Given the description of an element on the screen output the (x, y) to click on. 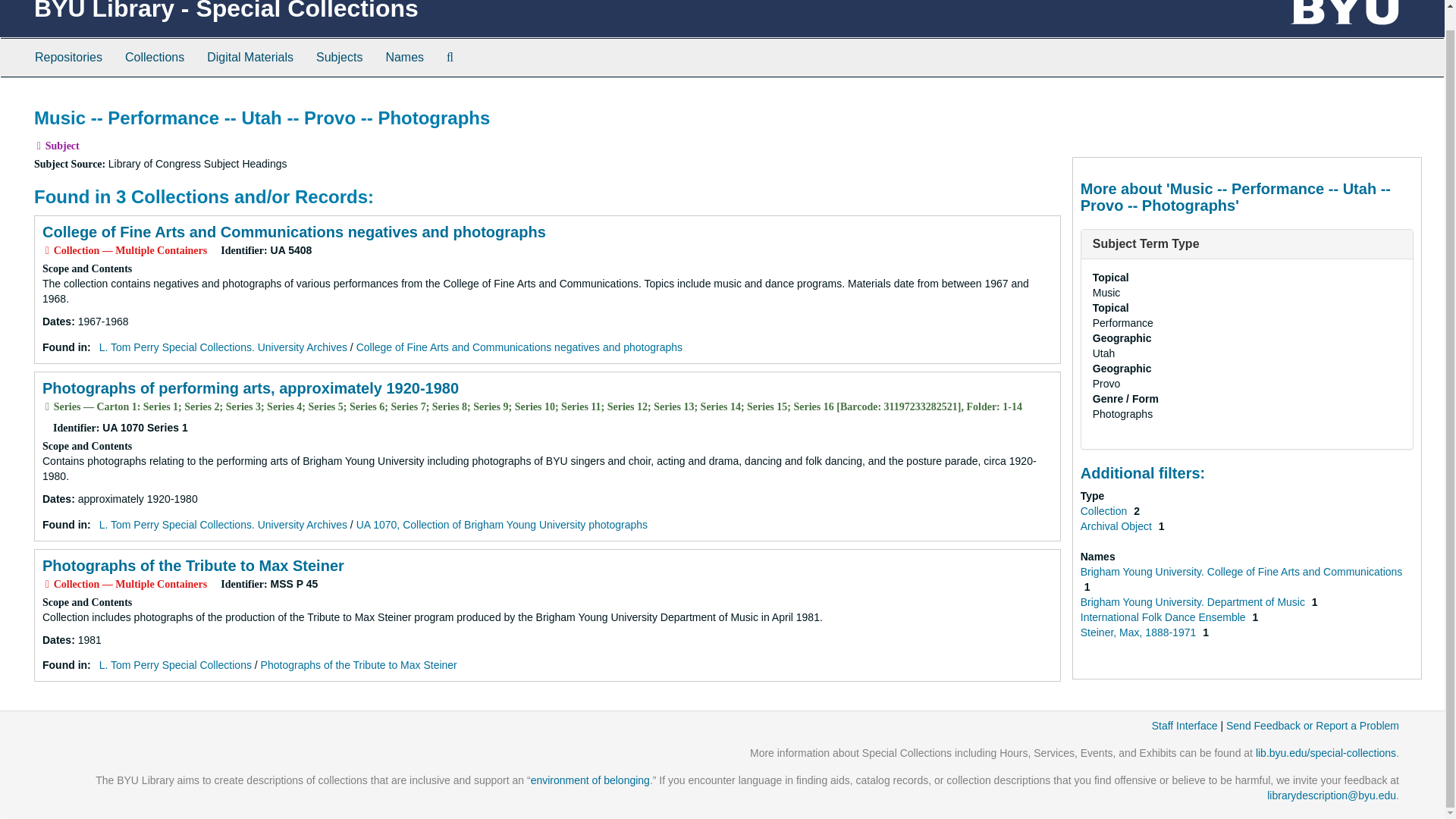
translation missing: en.dates (56, 639)
Filter By 'International Folk Dance Ensemble' (1164, 616)
Brigham Young University. Department of Music (1193, 602)
Digital Materials (249, 57)
UA 1070, Collection of Brigham Young University photographs (501, 524)
Steiner, Max, 1888-1971 (1139, 632)
L. Tom Perry Special Collections (175, 664)
Filter By 'Brigham Young University. Department of Music' (1193, 602)
L. Tom Perry Special Collections. University Archives (223, 346)
Subject Term Type (1146, 243)
Subjects (339, 57)
Return to the homepage (226, 11)
Collection (1104, 510)
